Given the description of an element on the screen output the (x, y) to click on. 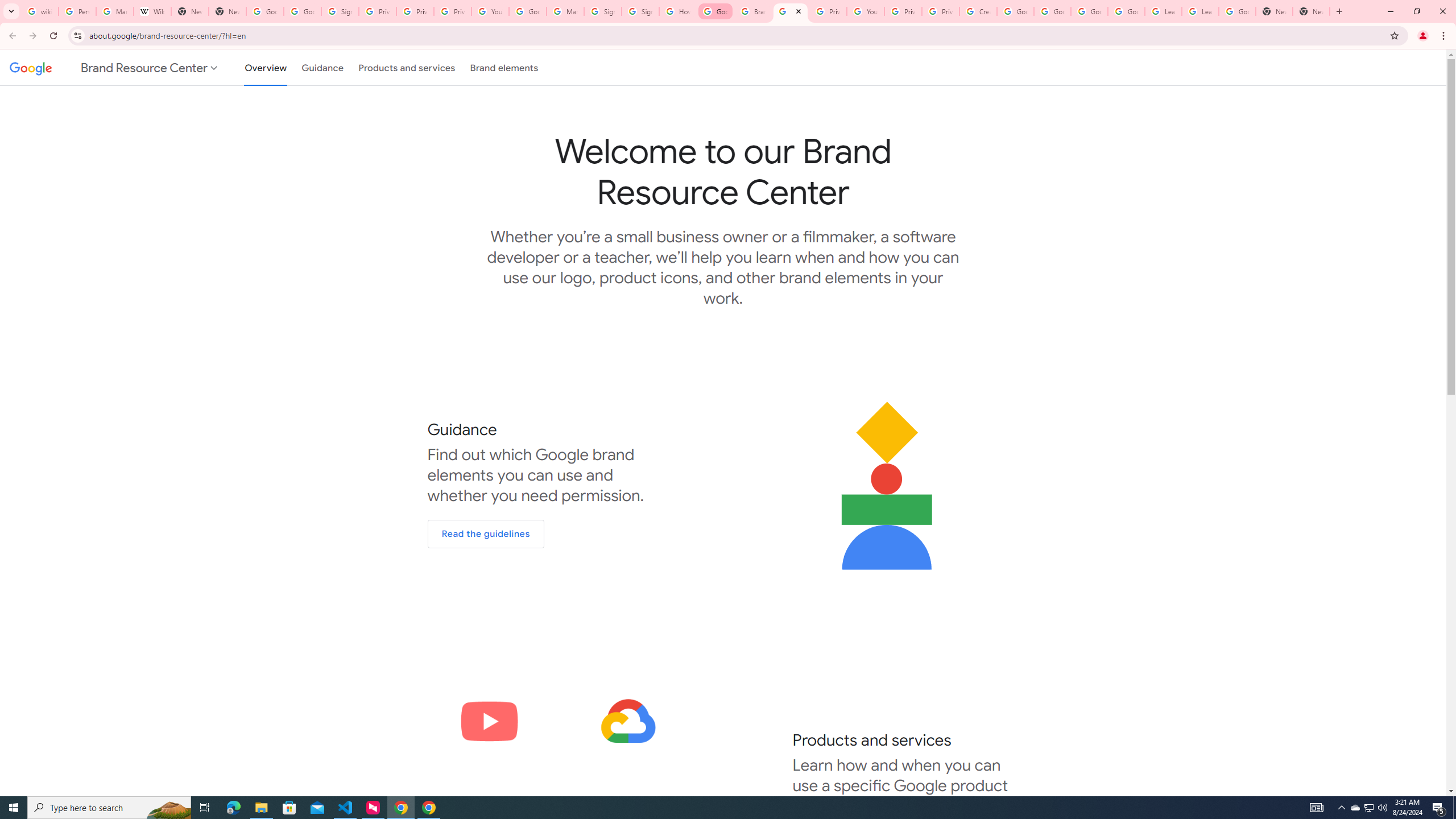
Read the guidelines (485, 534)
Google site switcher (114, 67)
Brand elements (504, 67)
Personalization & Google Search results - Google Search Help (77, 11)
New Tab (1273, 11)
Google Account Help (1088, 11)
Sign in - Google Accounts (339, 11)
Sign in - Google Accounts (639, 11)
